Given the description of an element on the screen output the (x, y) to click on. 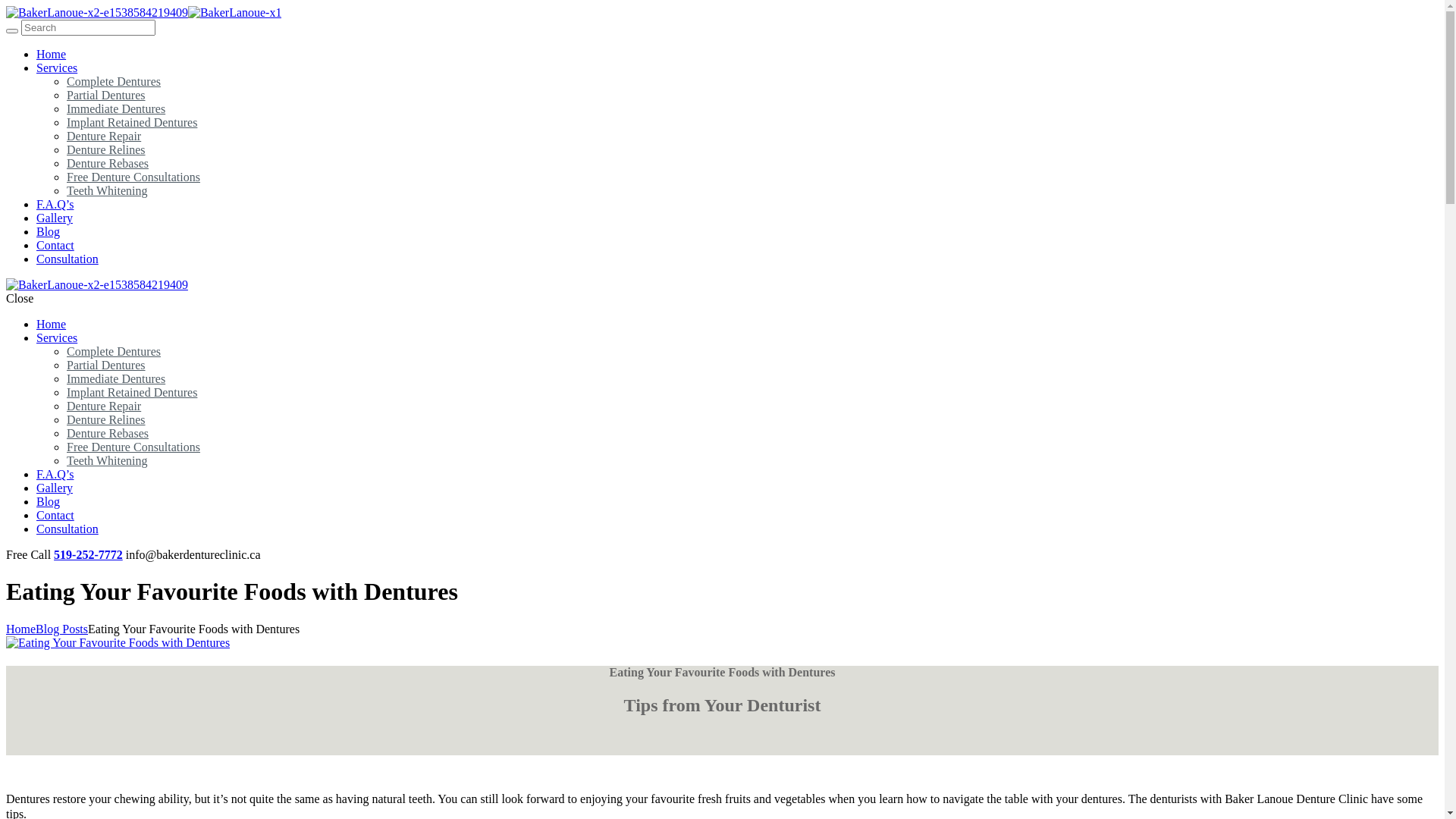
Eating Your Favourite Foods with Dentures Element type: hover (117, 642)
Consultation Element type: text (67, 528)
Teeth Whitening Element type: text (106, 190)
Blog Posts Element type: text (61, 628)
Services Element type: text (56, 337)
Contact Element type: text (55, 514)
Teeth Whitening Element type: text (106, 460)
Home Element type: text (50, 323)
Denture Repair Element type: text (103, 405)
Blog Element type: text (47, 501)
Partial Dentures Element type: text (105, 94)
519-252-7772 Element type: text (87, 554)
Implant Retained Dentures Element type: text (131, 391)
Denture Relines Element type: text (105, 149)
Denture Rebases Element type: text (107, 432)
Denture Repair Element type: text (103, 135)
Complete Dentures Element type: text (113, 81)
Free Denture Consultations Element type: text (133, 446)
Complete Dentures Element type: text (113, 351)
Free Denture Consultations Element type: text (133, 176)
Immediate Dentures Element type: text (115, 108)
Home Element type: text (50, 53)
Implant Retained Dentures Element type: text (131, 122)
Services Element type: text (56, 67)
Partial Dentures Element type: text (105, 364)
Gallery Element type: text (54, 217)
Contact Element type: text (55, 244)
Consultation Element type: text (67, 258)
Immediate Dentures Element type: text (115, 378)
Home Element type: text (20, 628)
Denture Relines Element type: text (105, 419)
Gallery Element type: text (54, 487)
Denture Rebases Element type: text (107, 162)
Blog Element type: text (47, 231)
